Given the description of an element on the screen output the (x, y) to click on. 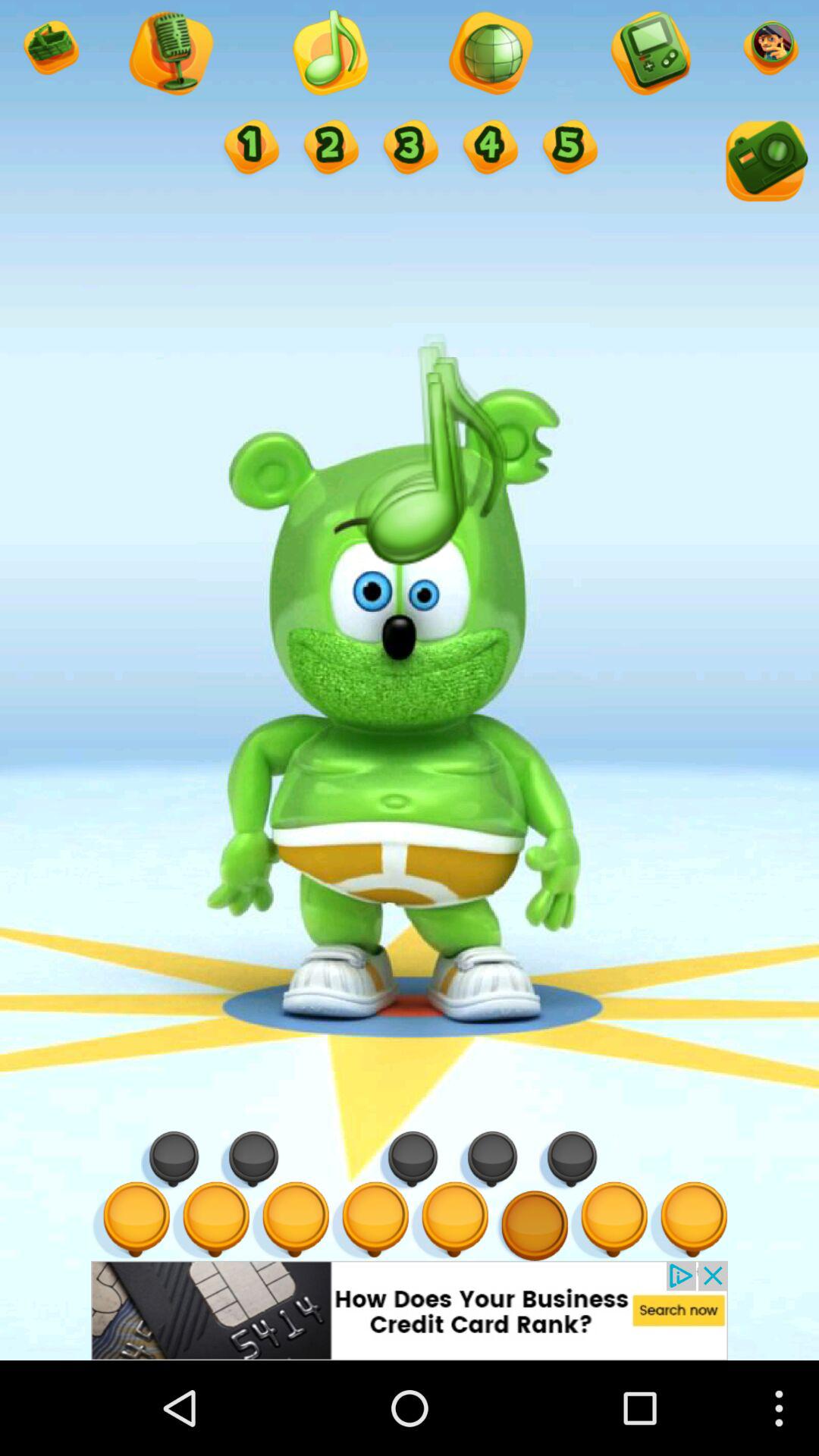
take a picture (763, 164)
